Given the description of an element on the screen output the (x, y) to click on. 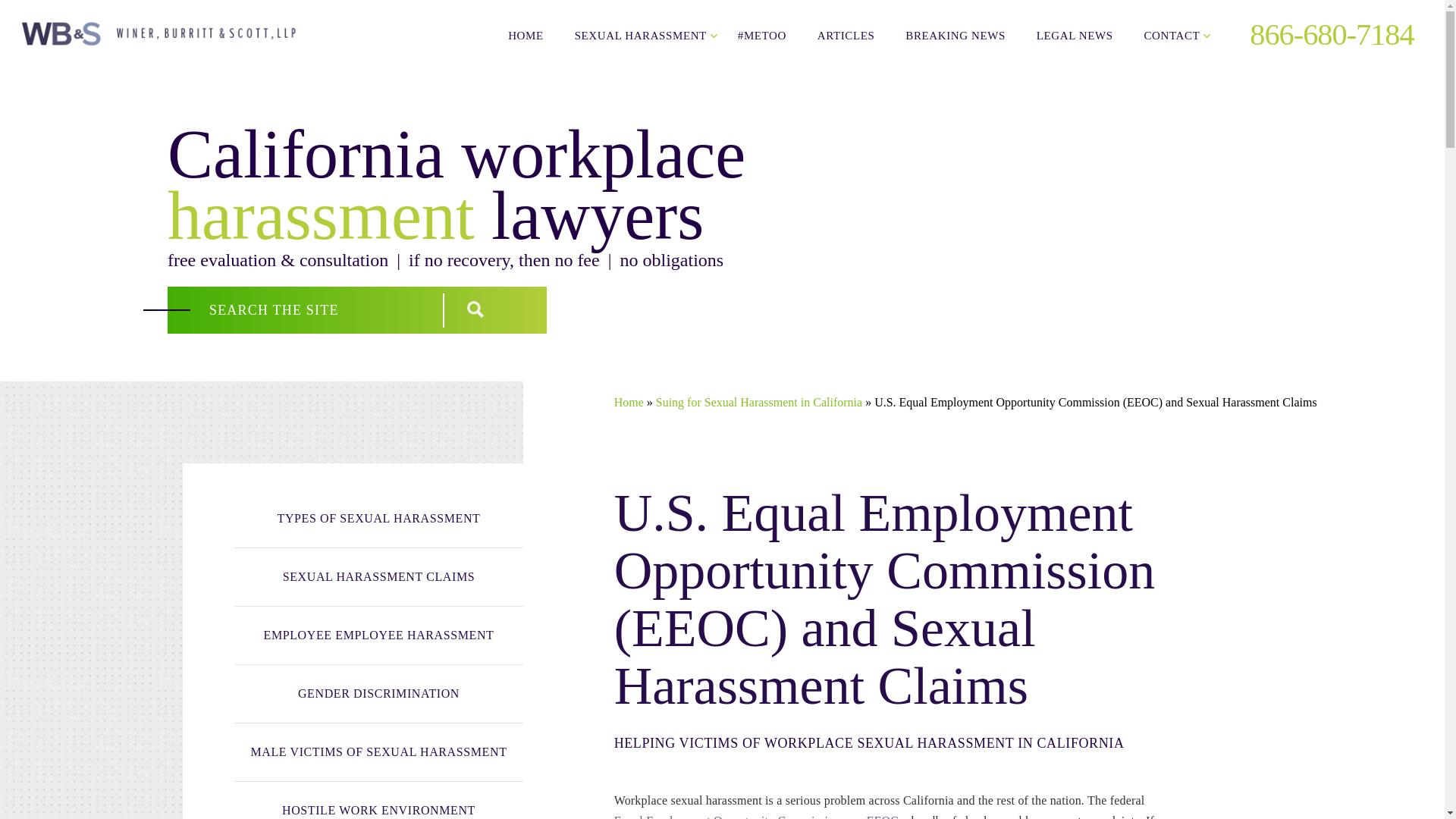
GENDER DISCRIMINATION (378, 694)
LEGAL NEWS (1074, 34)
TYPES OF SEXUAL HARASSMENT (378, 518)
Search for: (310, 309)
MALE VICTIMS OF SEXUAL HARASSMENT (378, 752)
SEXUAL HARASSMENT CLAIMS (378, 576)
EMPLOYEE EMPLOYEE HARASSMENT (378, 635)
866-680-7184 (1320, 34)
HOSTILE WORK ENVIRONMENT (378, 800)
Suing for Sexual Harassment in California (758, 401)
SEXUAL HARASSMENT (640, 34)
BREAKING NEWS (955, 34)
Home (628, 401)
